Given the description of an element on the screen output the (x, y) to click on. 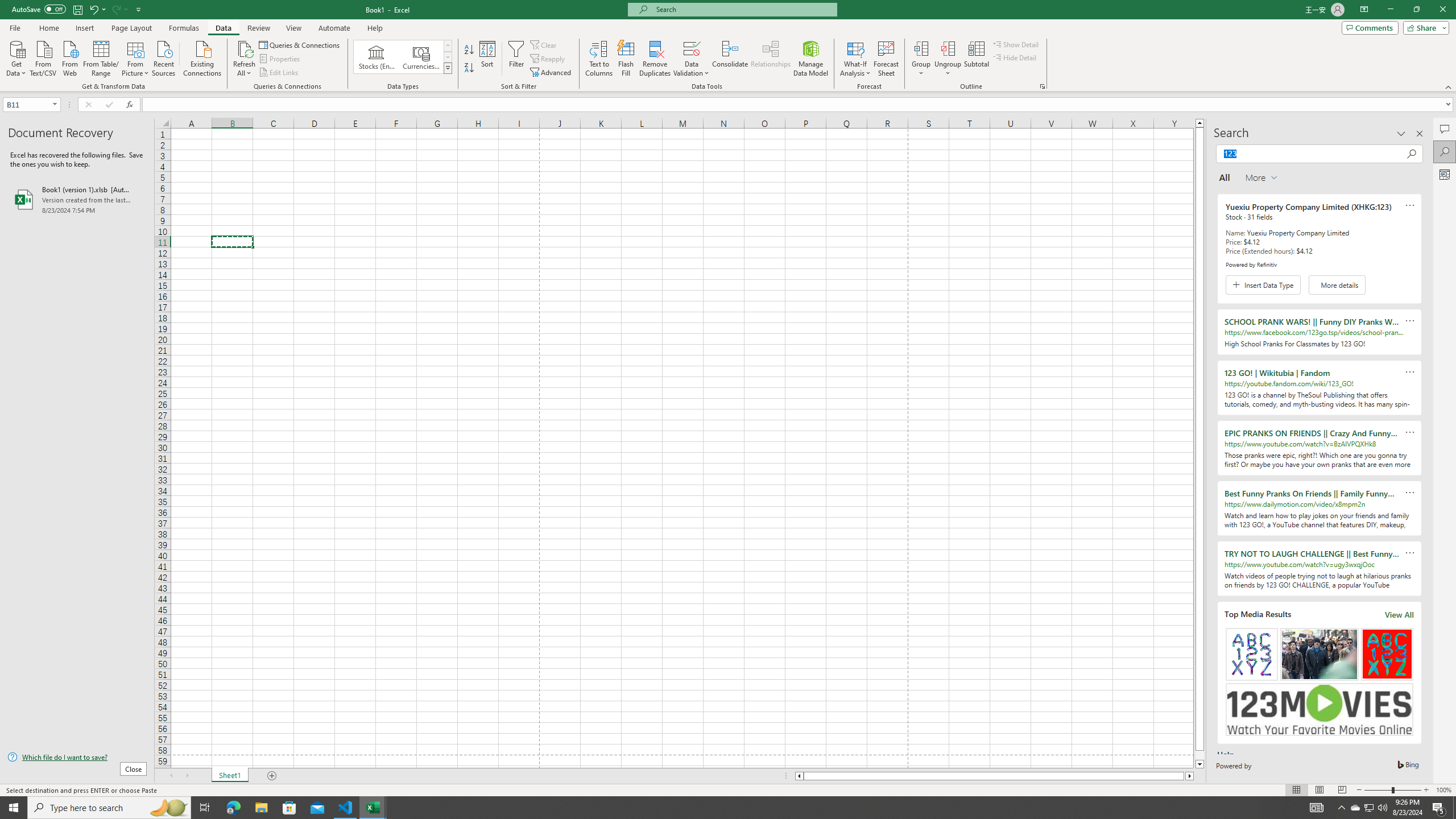
Sort Z to A (469, 67)
